Given the description of an element on the screen output the (x, y) to click on. 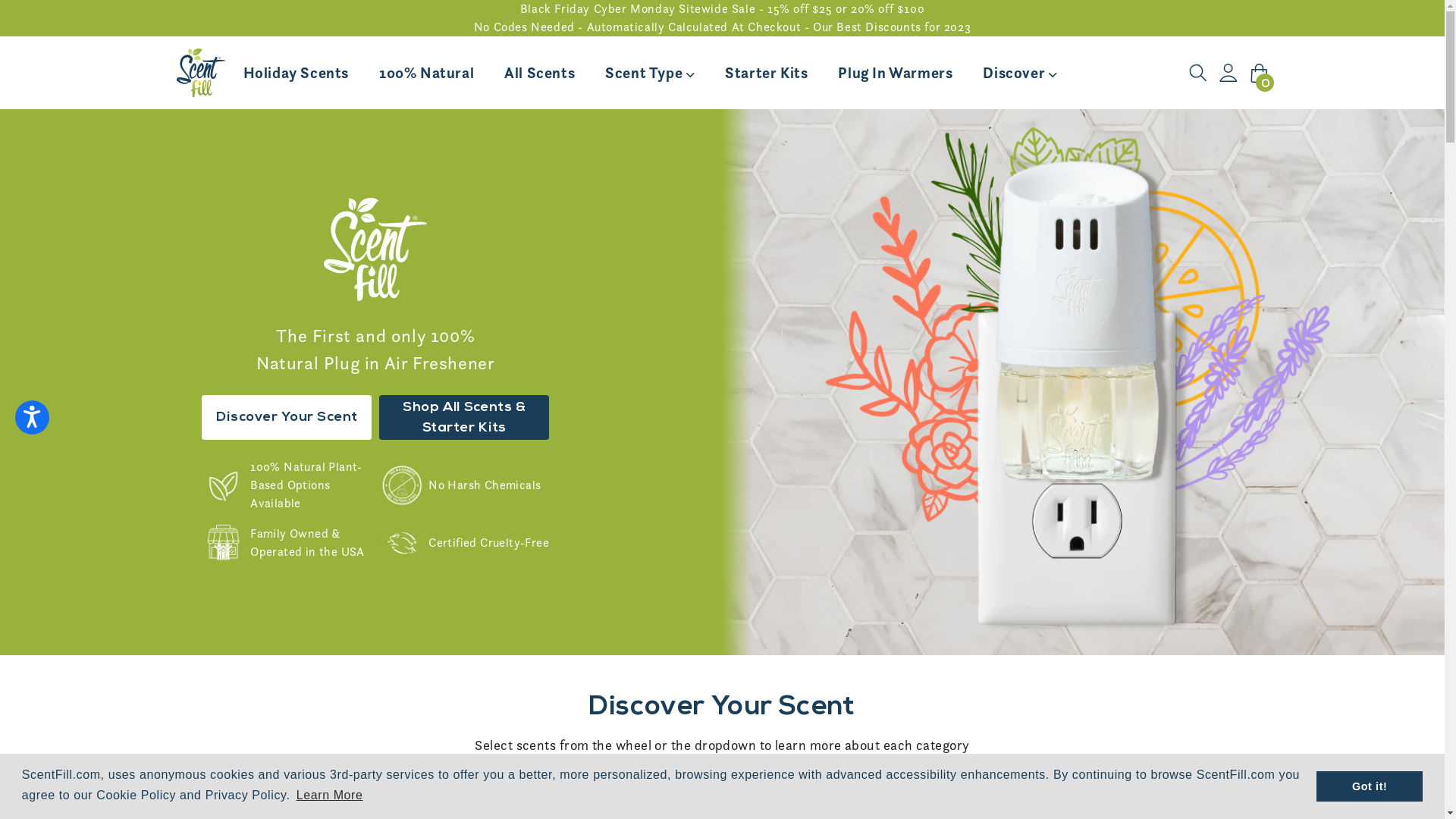
Learn More Element type: text (329, 795)
Plug In Warmers Element type: text (894, 72)
Shop All Scents & Starter Kits Element type: text (464, 417)
All Scents Element type: text (539, 72)
Starter Kits Element type: text (765, 72)
100% Natural Element type: text (426, 72)
0 Element type: text (1258, 72)
Discover Your Scent Element type: text (286, 417)
Got it! Element type: text (1369, 786)
Holiday Scents Element type: text (295, 72)
